Given the description of an element on the screen output the (x, y) to click on. 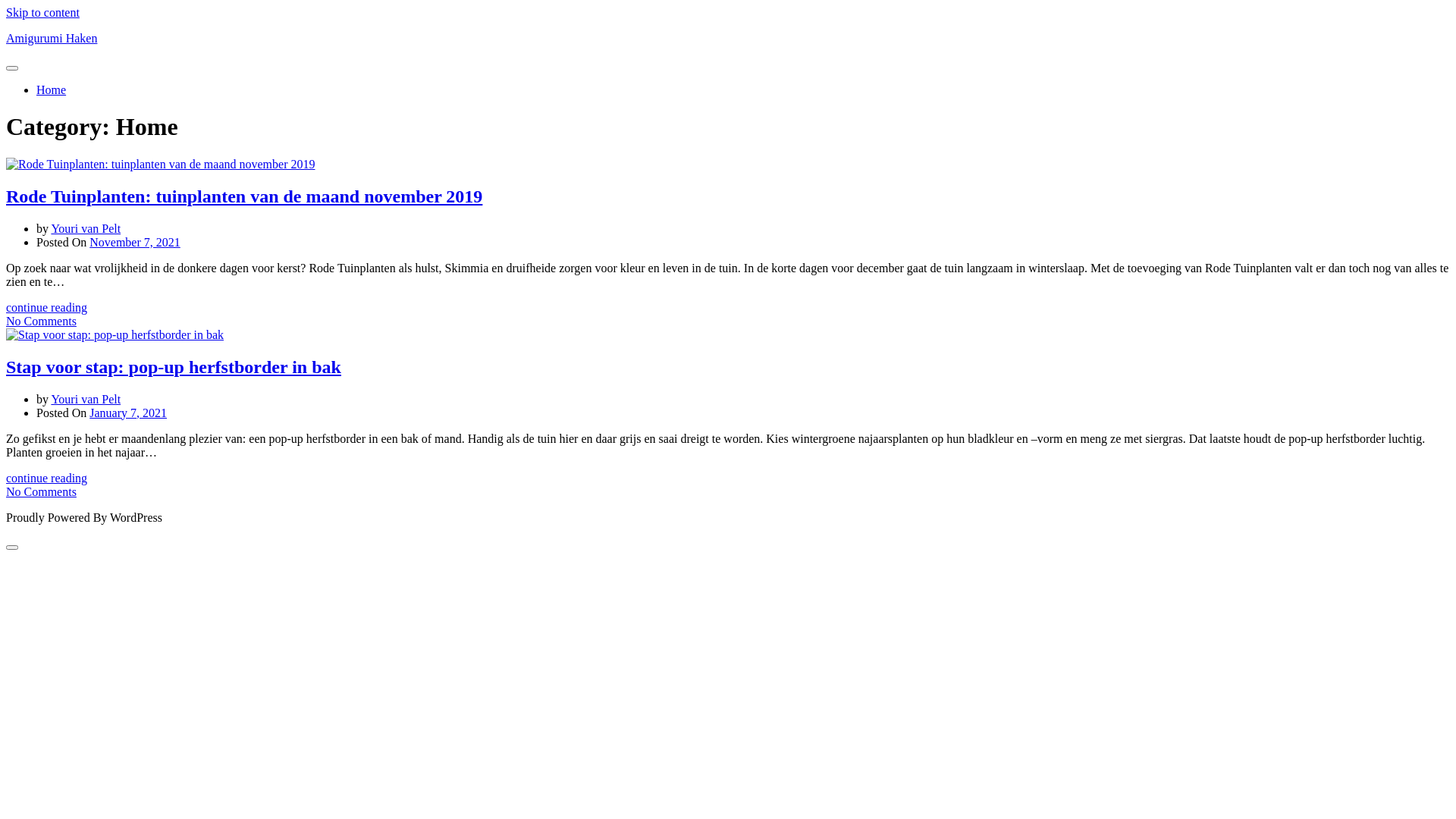
Go to top Element type: hover (12, 546)
Rode Tuinplanten: tuinplanten van de maand november 2019 Element type: text (244, 196)
Youri van Pelt Element type: text (85, 398)
January 7, 2021 Element type: text (127, 412)
continue reading Element type: text (46, 477)
Amigurumi Haken Element type: text (51, 37)
No Comments Element type: text (41, 320)
Home Element type: text (50, 89)
Youri van Pelt Element type: text (85, 228)
No Comments Element type: text (41, 491)
Skip to content Element type: text (42, 12)
continue reading Element type: text (46, 307)
Stap voor stap: pop-up herfstborder in bak Element type: text (173, 366)
November 7, 2021 Element type: text (134, 241)
